Given the description of an element on the screen output the (x, y) to click on. 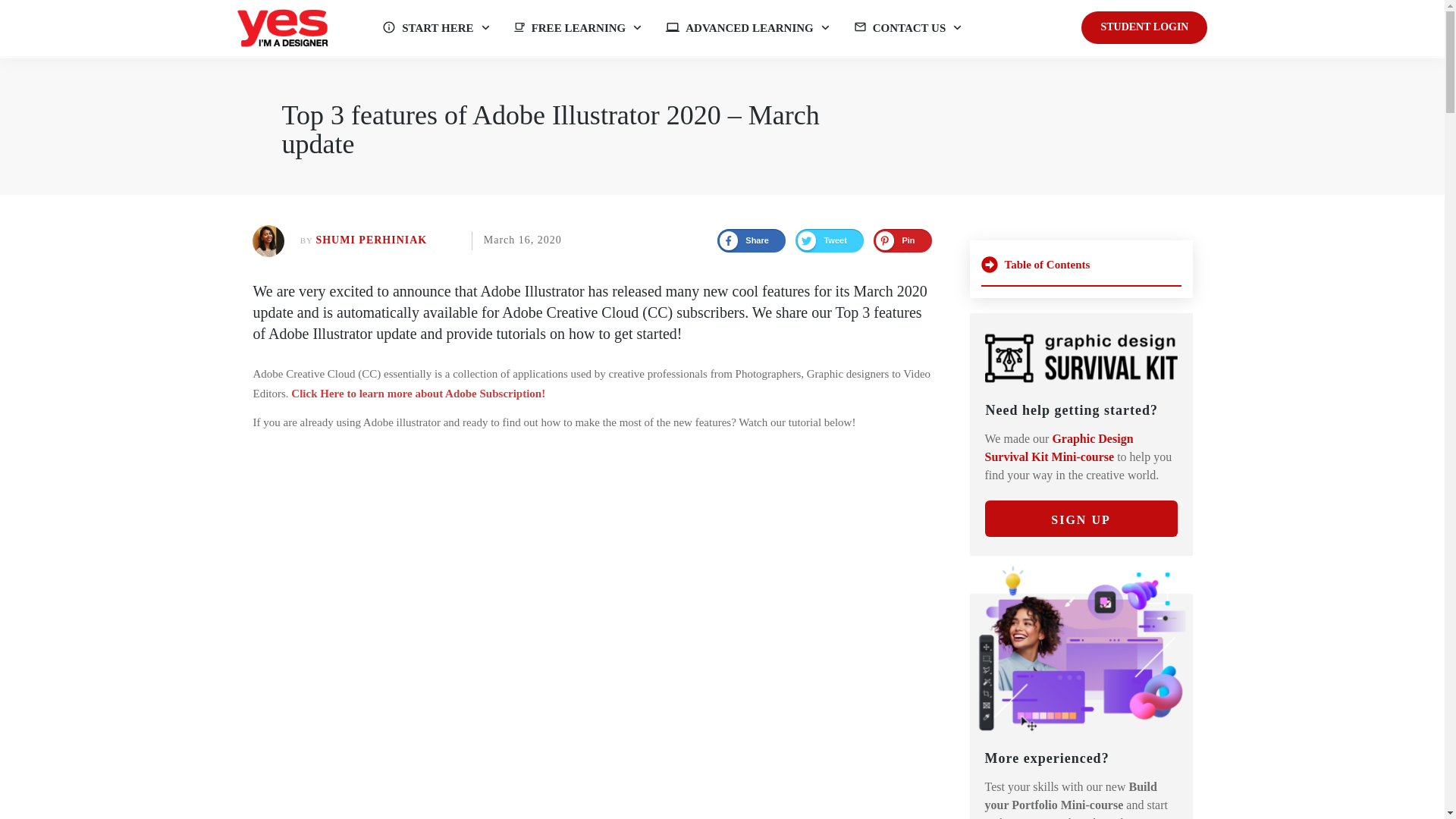
SHUMI PERHINIAK (370, 239)
Share (743, 240)
Click Here to learn more about Adobe Subscription! (417, 393)
CONTACT US (908, 27)
FREE LEARNING (578, 27)
ADVANCED LEARNING (748, 27)
Table of Contents (1080, 269)
Pin (896, 240)
Tweet (822, 240)
STUDENT LOGIN (1144, 27)
survivalkit (1081, 358)
START HERE (435, 27)
